Given the description of an element on the screen output the (x, y) to click on. 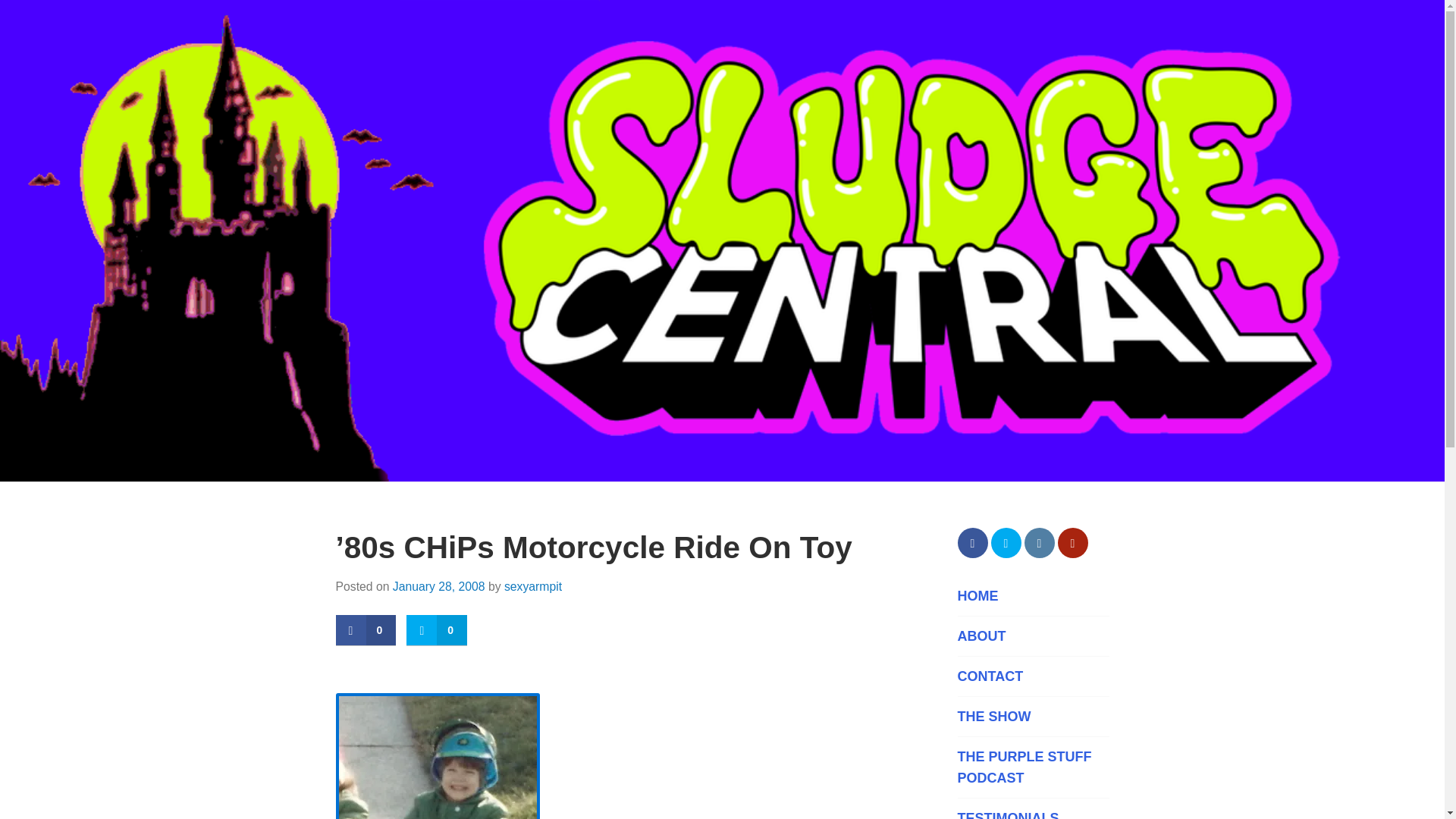
January 28, 2008 (438, 585)
SLUDGE CENTRAL (495, 526)
The Sexy Armpit Show (1032, 716)
THE PURPLE STUFF PODCAST (1032, 767)
Search (48, 18)
THE SHOW (1032, 716)
0 (365, 630)
sexyarmpit (532, 585)
TESTIMONIALS (1032, 813)
CONTACT (1032, 676)
